Given the description of an element on the screen output the (x, y) to click on. 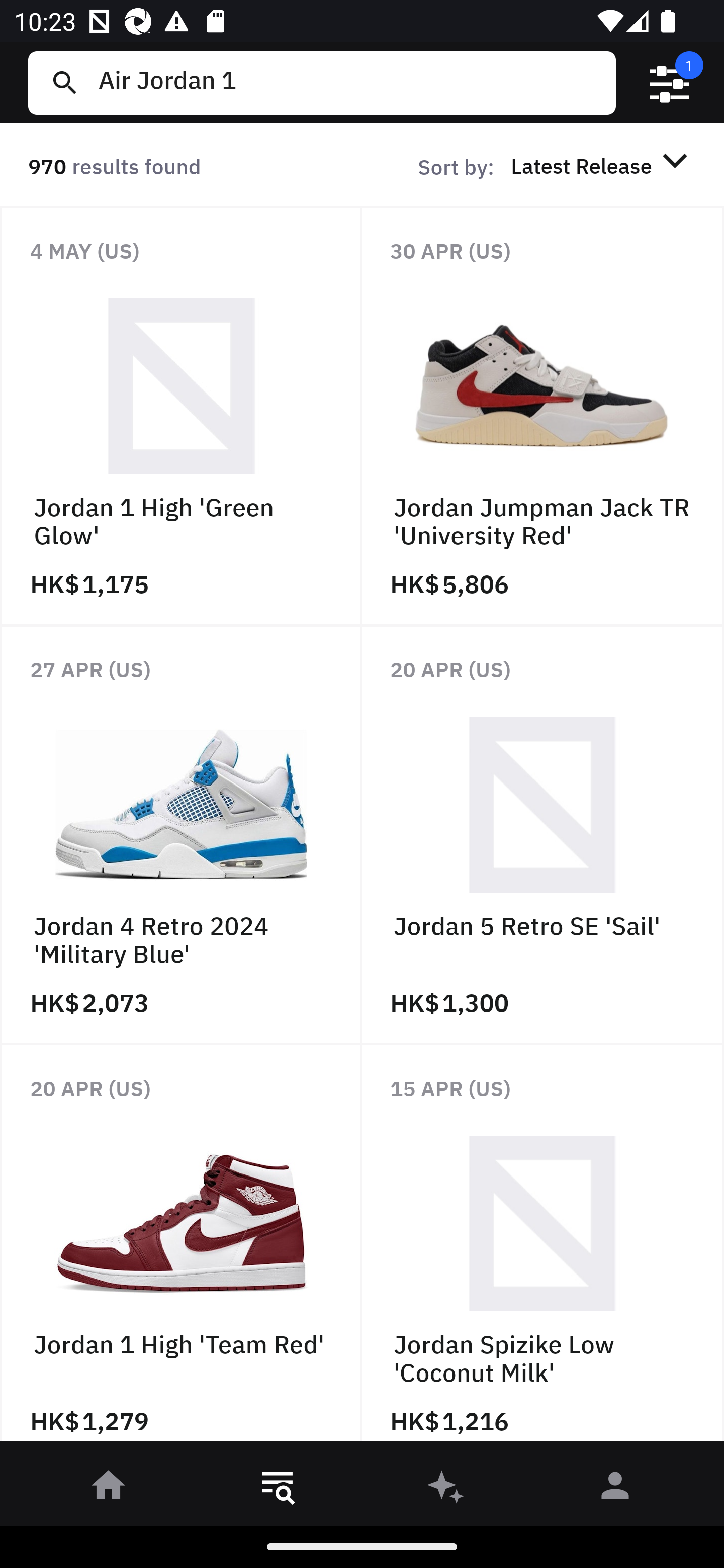
Air Jordan 1 (349, 82)
 (669, 82)
Latest Release  (602, 165)
4 MAY (US) Jordan 1 High 'Green Glow' HK$ 1,175 (181, 415)
20 APR (US) Jordan 5 Retro SE 'Sail' HK$ 1,300 (543, 834)
20 APR (US) Jordan 1 High 'Team Red' HK$ 1,279 (181, 1247)
󰋜 (108, 1488)
󱎸 (277, 1488)
󰫢 (446, 1488)
󰀄 (615, 1488)
